Given the description of an element on the screen output the (x, y) to click on. 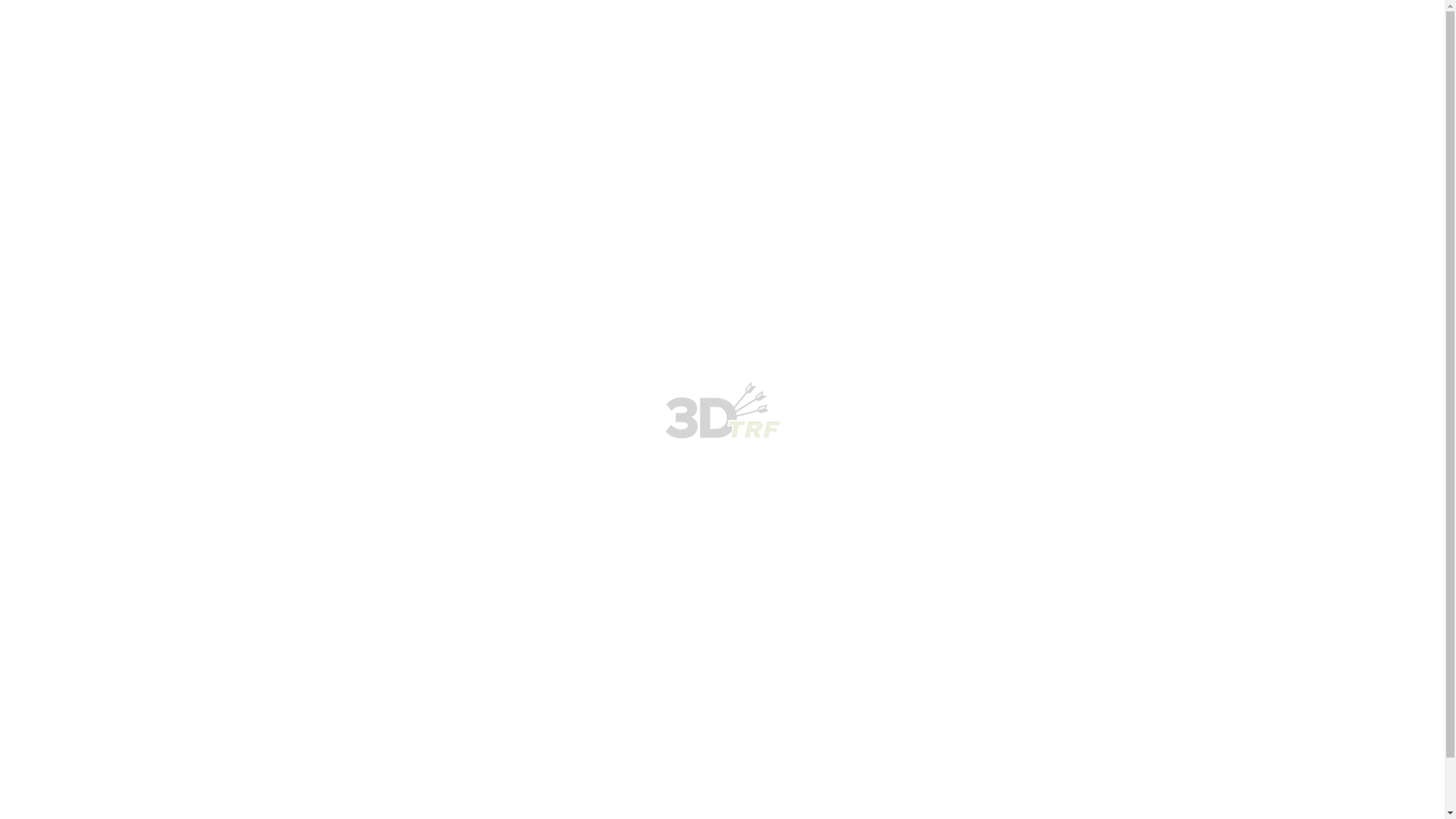
Next Element type: hover (43, 267)
Previous Element type: hover (12, 267)
Remove Element type: text (37, 524)
here Element type: text (136, 437)
Close (esc) Element type: hover (27, 267)
Check out Element type: text (42, 742)
Skip to content Element type: text (51, 136)
Close cart Element type: text (44, 329)
Close (esc) Element type: text (48, 201)
